Given the description of an element on the screen output the (x, y) to click on. 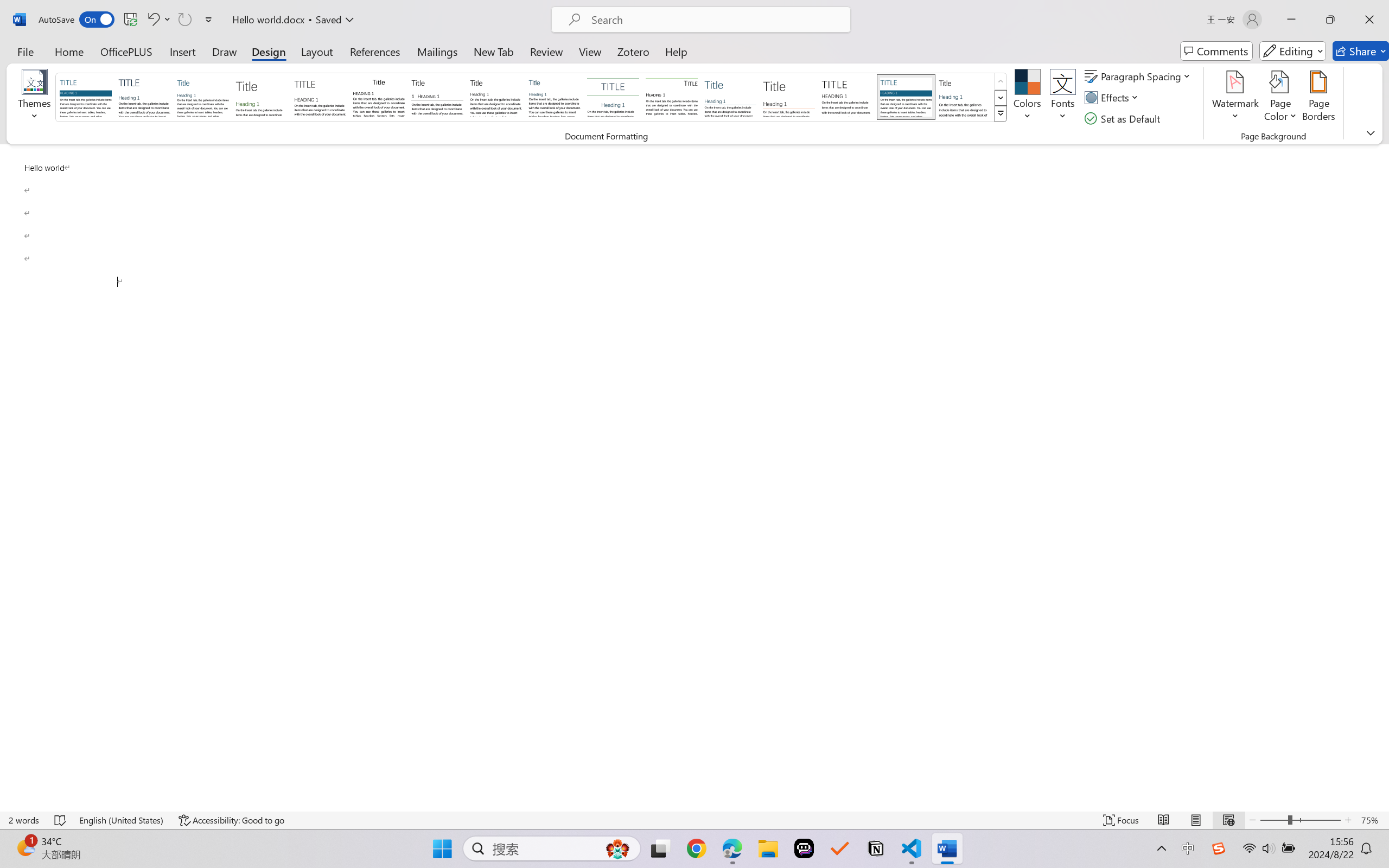
New comment (1219, 131)
Post comment (Ctrl + Enter) (1315, 209)
